Given the description of an element on the screen output the (x, y) to click on. 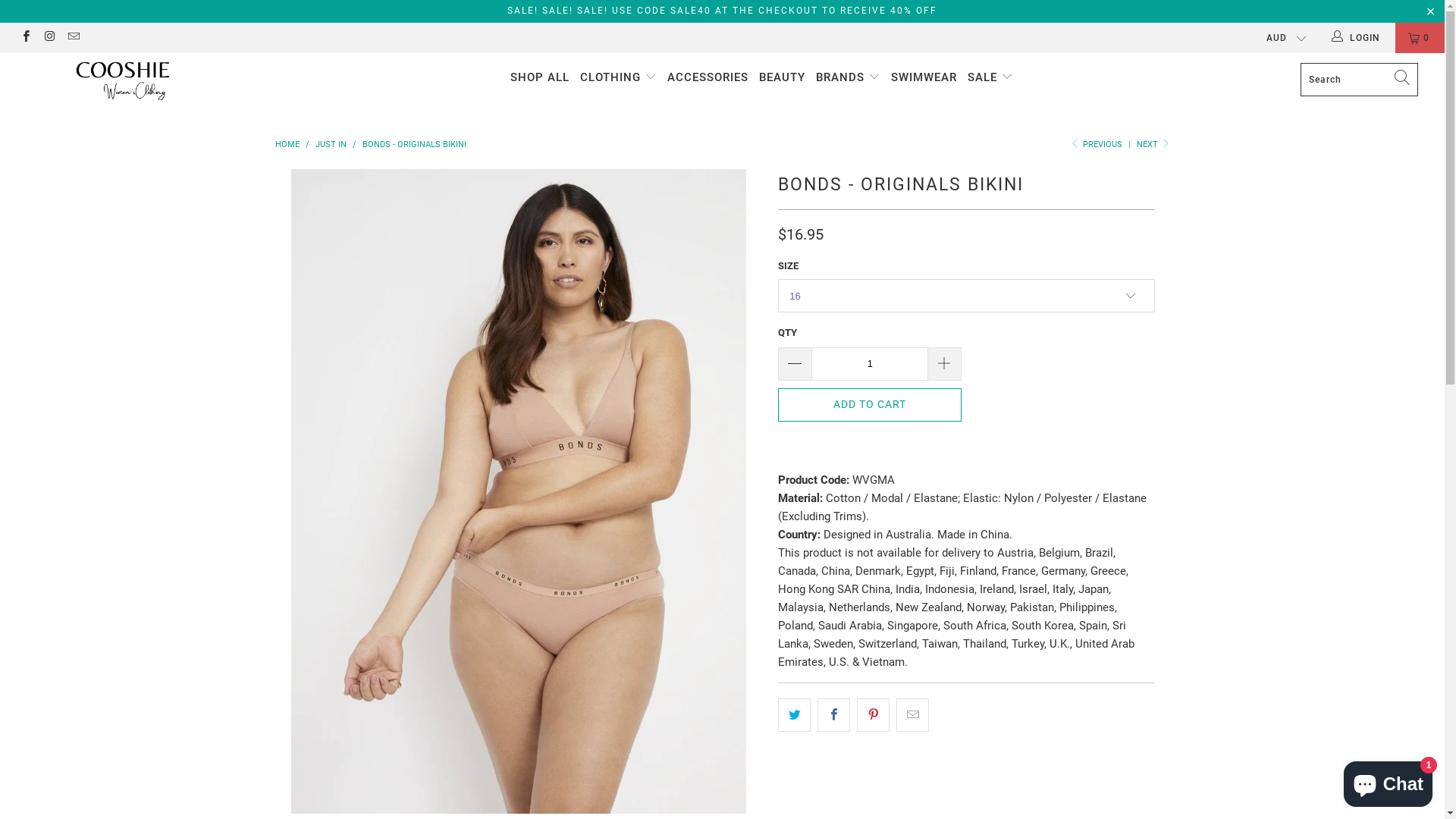
Shopify online store chat Element type: hover (1388, 780)
0 Element type: text (1419, 37)
Cooshie on Instagram Element type: hover (48, 37)
CLOTHING Element type: text (618, 77)
Share this on Facebook Element type: hover (833, 714)
ADD TO CART Element type: text (869, 404)
BEAUTY Element type: text (782, 77)
Email Cooshie Element type: hover (72, 37)
SHOP ALL Element type: text (539, 77)
BRANDS Element type: text (847, 77)
Cooshie Element type: hover (123, 82)
ACCESSORIES Element type: text (707, 77)
Email this to a friend Element type: hover (912, 714)
Share this on Pinterest Element type: hover (872, 714)
Share this on Twitter Element type: hover (794, 714)
LOGIN Element type: text (1356, 37)
SALE Element type: text (990, 77)
JUST IN Element type: text (330, 144)
SWIMWEAR Element type: text (924, 77)
BONDS - ORIGINALS BIKINI Element type: text (414, 144)
PREVIOUS Element type: text (1095, 144)
HOME Element type: text (286, 144)
Cooshie on Facebook Element type: hover (24, 37)
NEXT Element type: text (1153, 144)
